Given the description of an element on the screen output the (x, y) to click on. 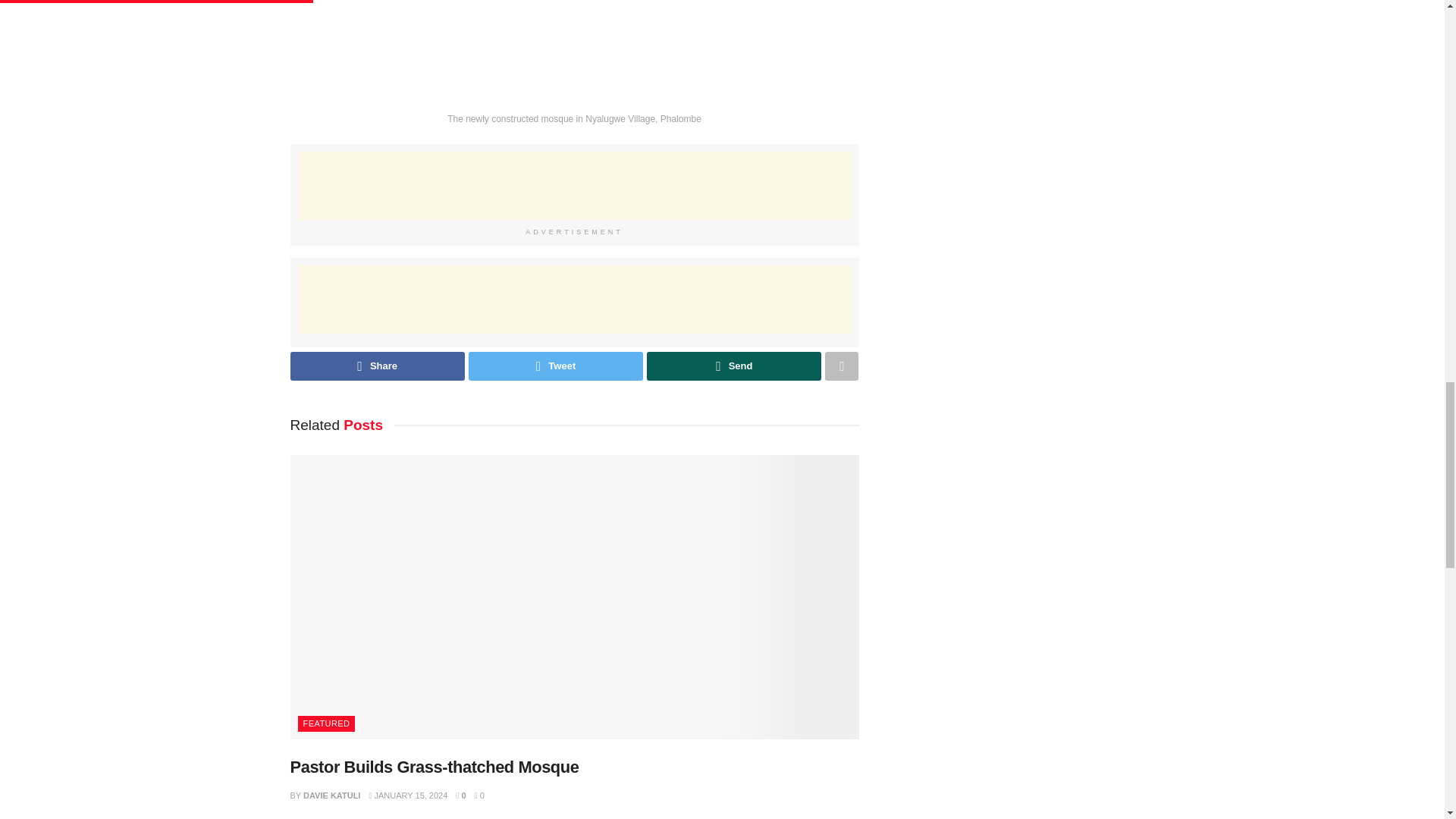
Advertisement (574, 299)
